Given the description of an element on the screen output the (x, y) to click on. 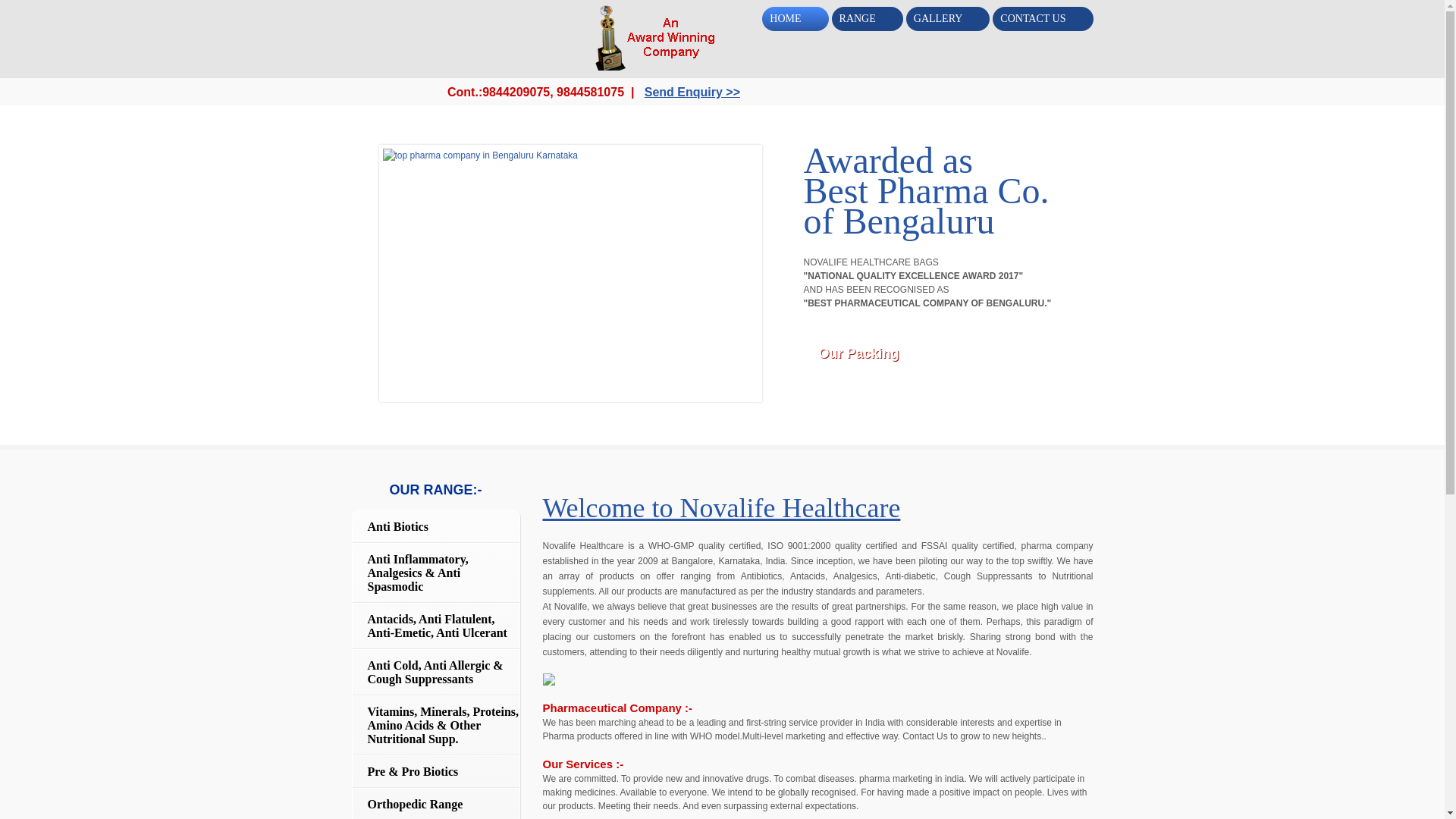
Our Packing (869, 362)
Anti Biotics (435, 526)
HOME (794, 18)
Antacids, Anti Flatulent, Anti-Emetic, Anti Ulcerant (435, 625)
CONTACT US (1042, 18)
GALLERY (947, 18)
RANGE (866, 18)
Welcome to Novalife Healthcare (722, 508)
top pharma company in Bengaluru Karnataka (569, 273)
